Given the description of an element on the screen output the (x, y) to click on. 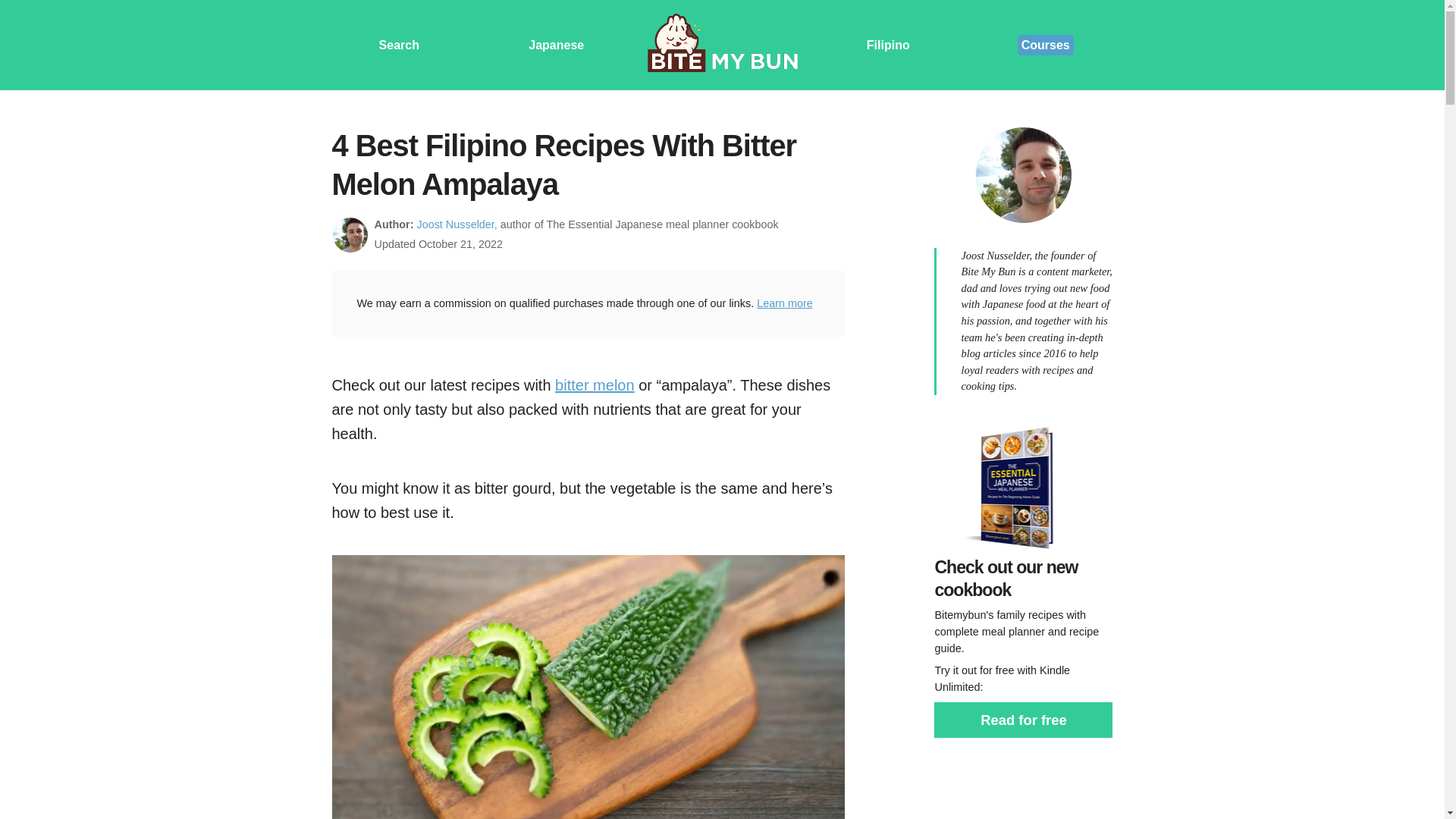
Filipino (888, 43)
Japanese (555, 43)
Search (398, 43)
Learn more (784, 303)
Courses (1045, 45)
Bitter Melon Or Bitter Gourd: Some Know It As Ampalaya (594, 384)
bitter melon (594, 384)
Logo (721, 44)
Joost Nusselder, (456, 224)
